Given the description of an element on the screen output the (x, y) to click on. 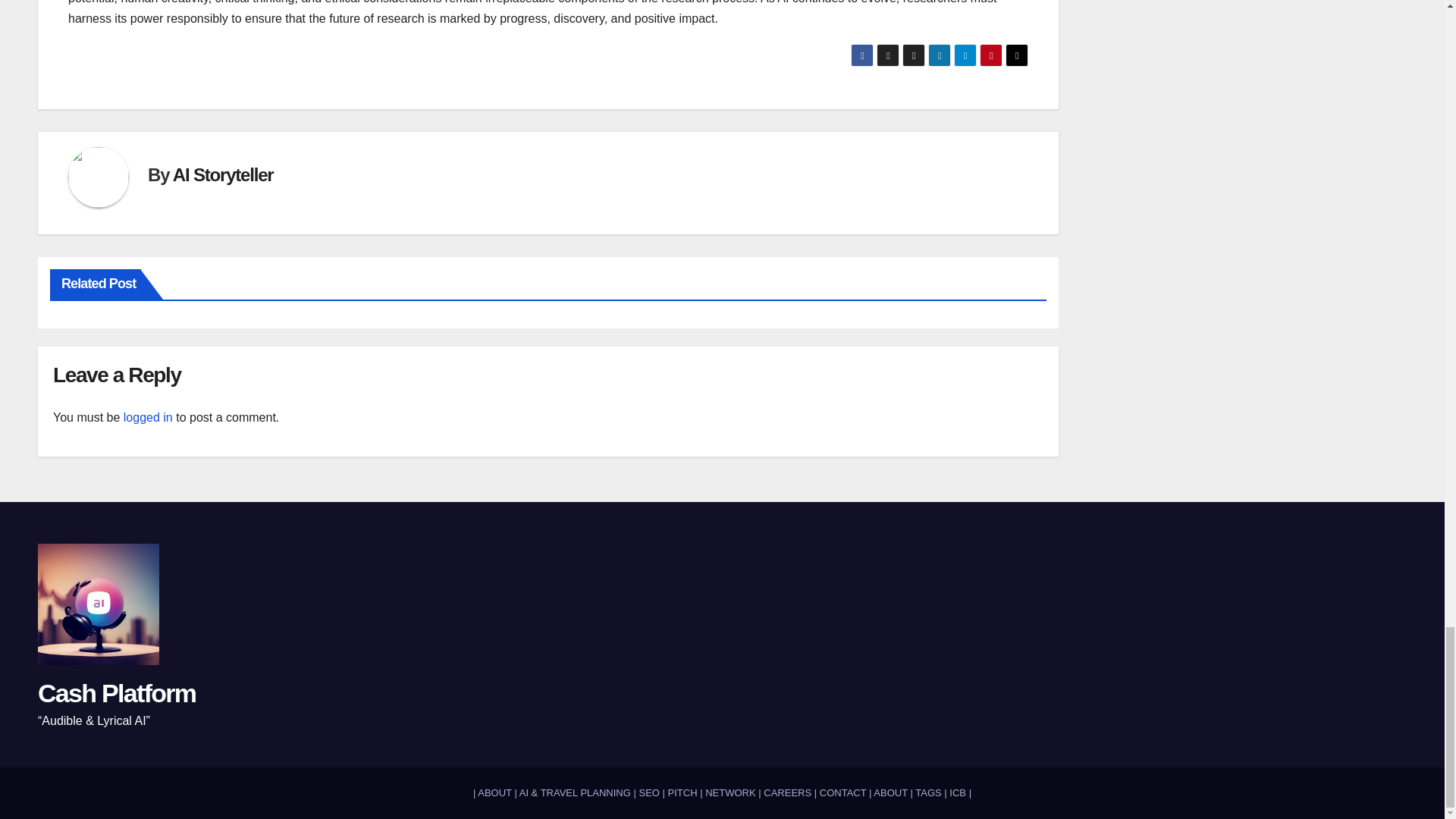
AI Storyteller (223, 174)
logged in (148, 417)
